Given the description of an element on the screen output the (x, y) to click on. 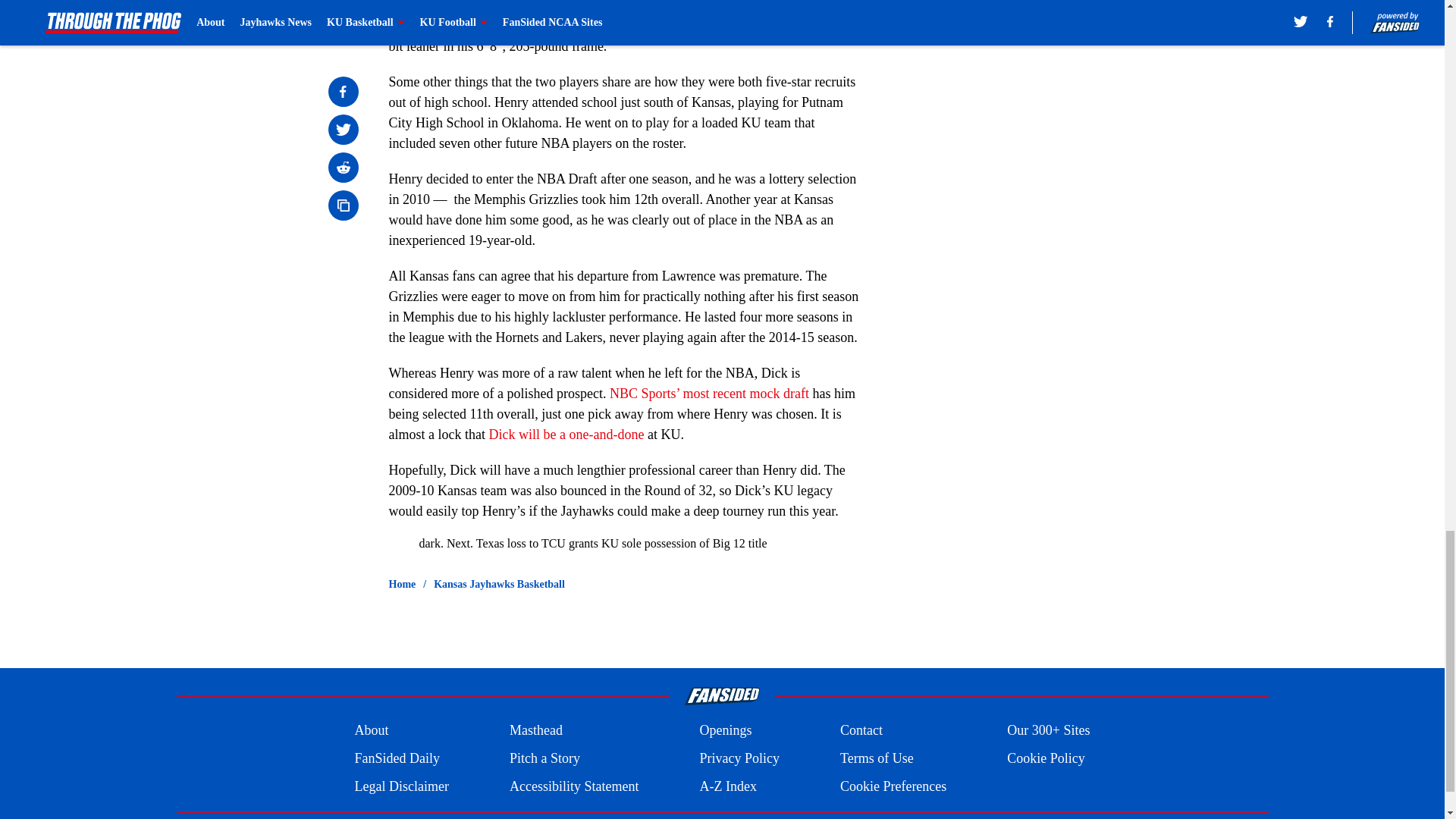
Privacy Policy (738, 758)
Cookie Policy (1045, 758)
FanSided Daily (396, 758)
Contact (861, 730)
A-Z Index (726, 786)
Masthead (535, 730)
Terms of Use (877, 758)
Openings (724, 730)
Home (401, 584)
Accessibility Statement (574, 786)
Legal Disclaimer (400, 786)
Pitch a Story (544, 758)
Cookie Preferences (893, 786)
Dick will be a one-and-done (565, 434)
About (370, 730)
